Given the description of an element on the screen output the (x, y) to click on. 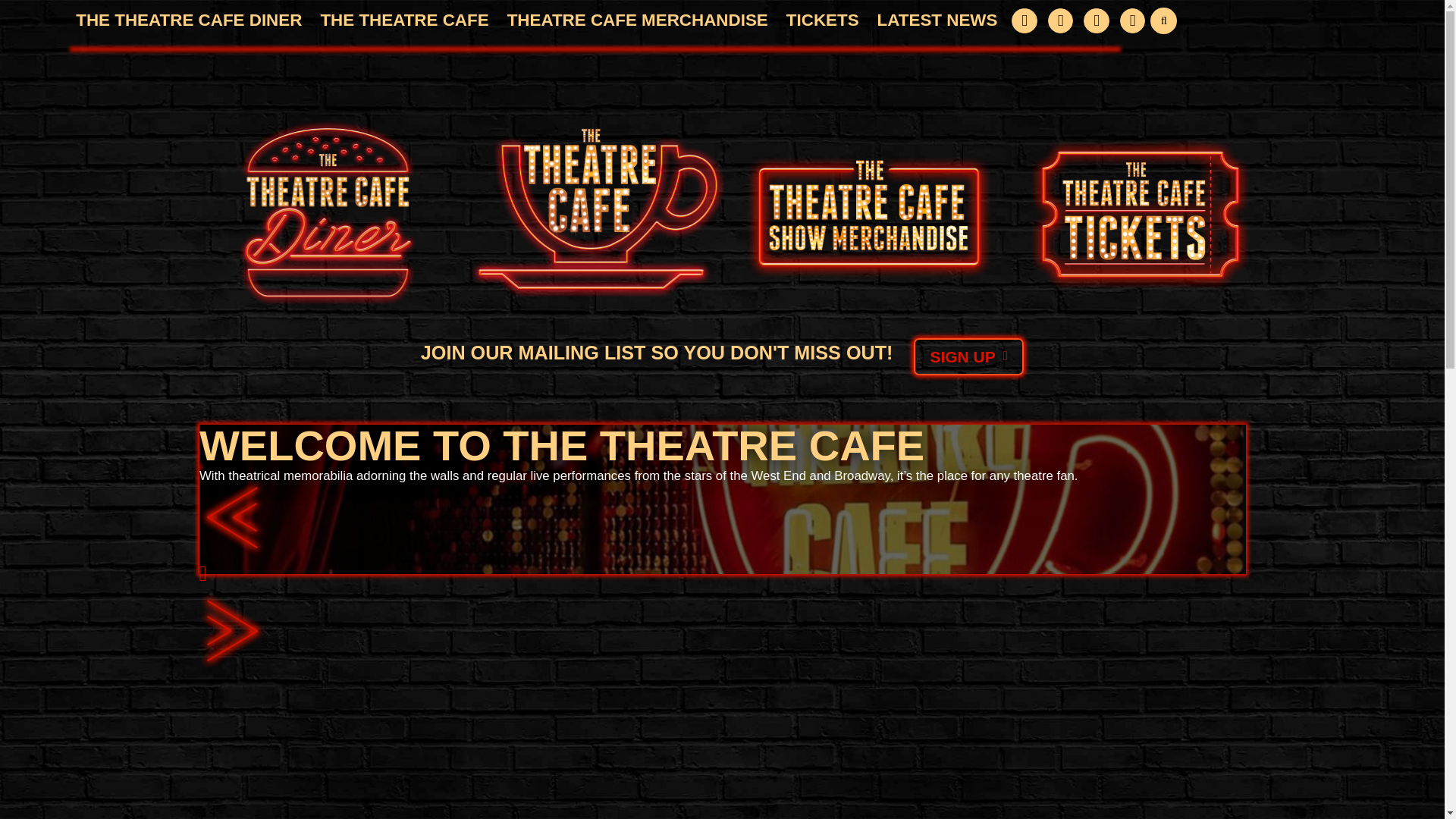
THEATRE CAFE MERCHANDISE (637, 20)
JOIN OUR MAILING LIST SO YOU DON'T MISS OUT! (656, 352)
LATEST NEWS (937, 20)
THE THEATRE CAFE (403, 20)
SIGN UP (968, 356)
THE THEATRE CAFE DINER (188, 20)
TICKETS (823, 20)
